Given the description of an element on the screen output the (x, y) to click on. 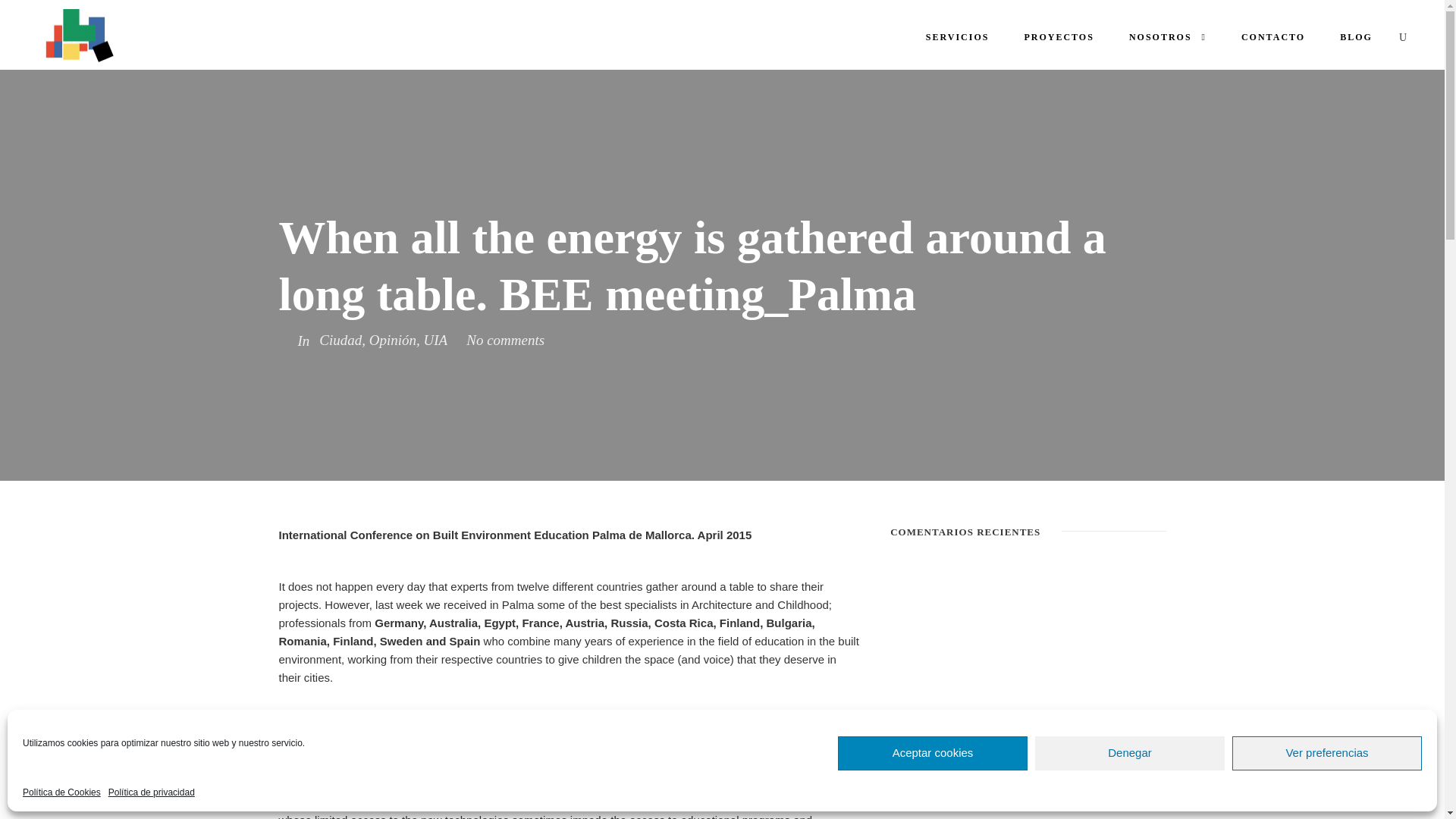
NOSOTROS (1168, 40)
SERVICIOS (958, 40)
PROYECTOS (1058, 40)
Ver preferencias (1326, 753)
Logo sin fondo (75, 36)
Denegar (1129, 753)
BLOG (1356, 40)
Aceptar cookies (932, 753)
CONTACTO (1272, 40)
